Given the description of an element on the screen output the (x, y) to click on. 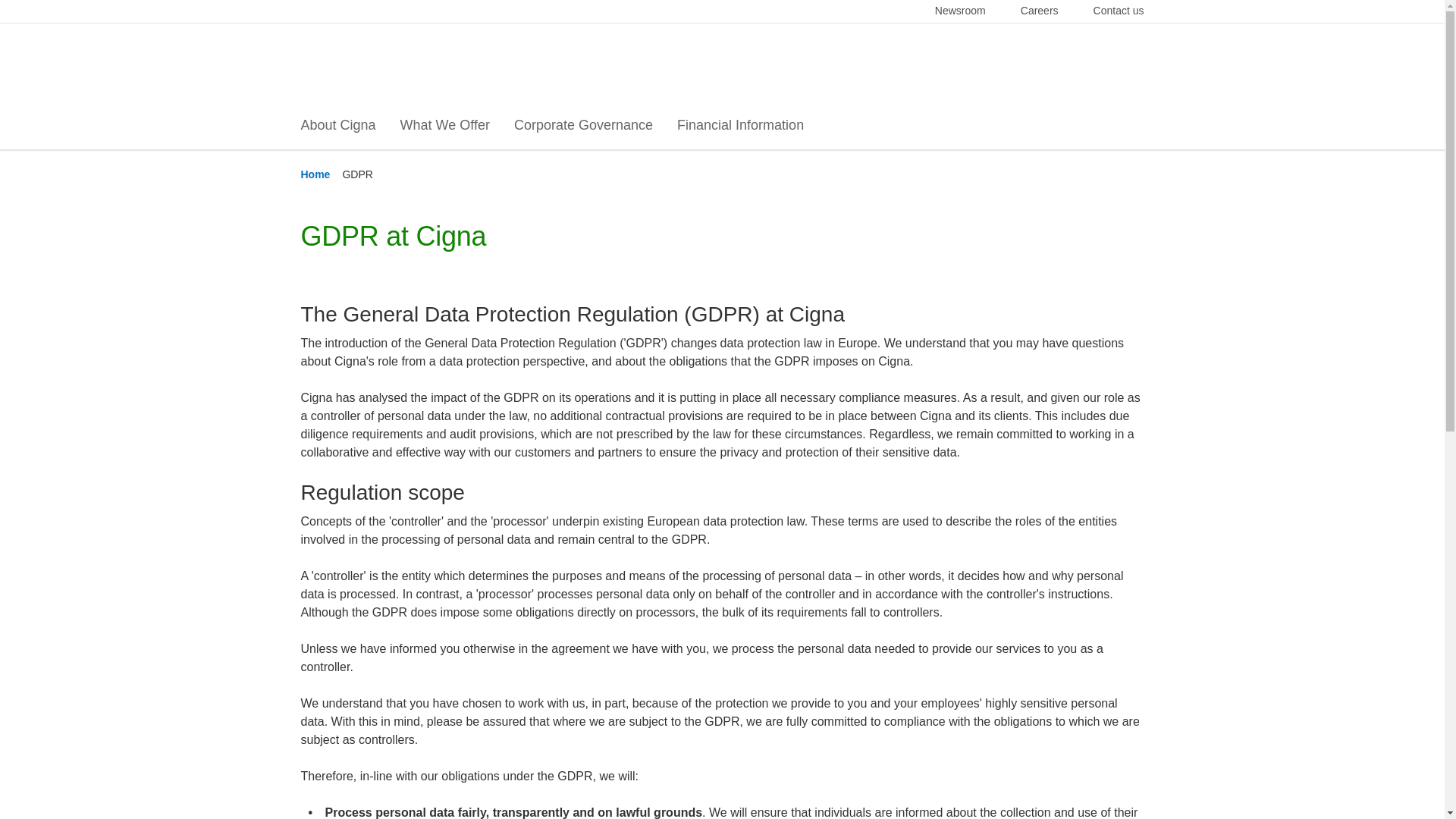
Contact us (1118, 11)
Financial Information (740, 126)
Careers (1047, 11)
What We Offer (444, 126)
Home (314, 174)
Newsroom (968, 11)
About Cigna (337, 126)
Corporate Governance (582, 126)
